Given the description of an element on the screen output the (x, y) to click on. 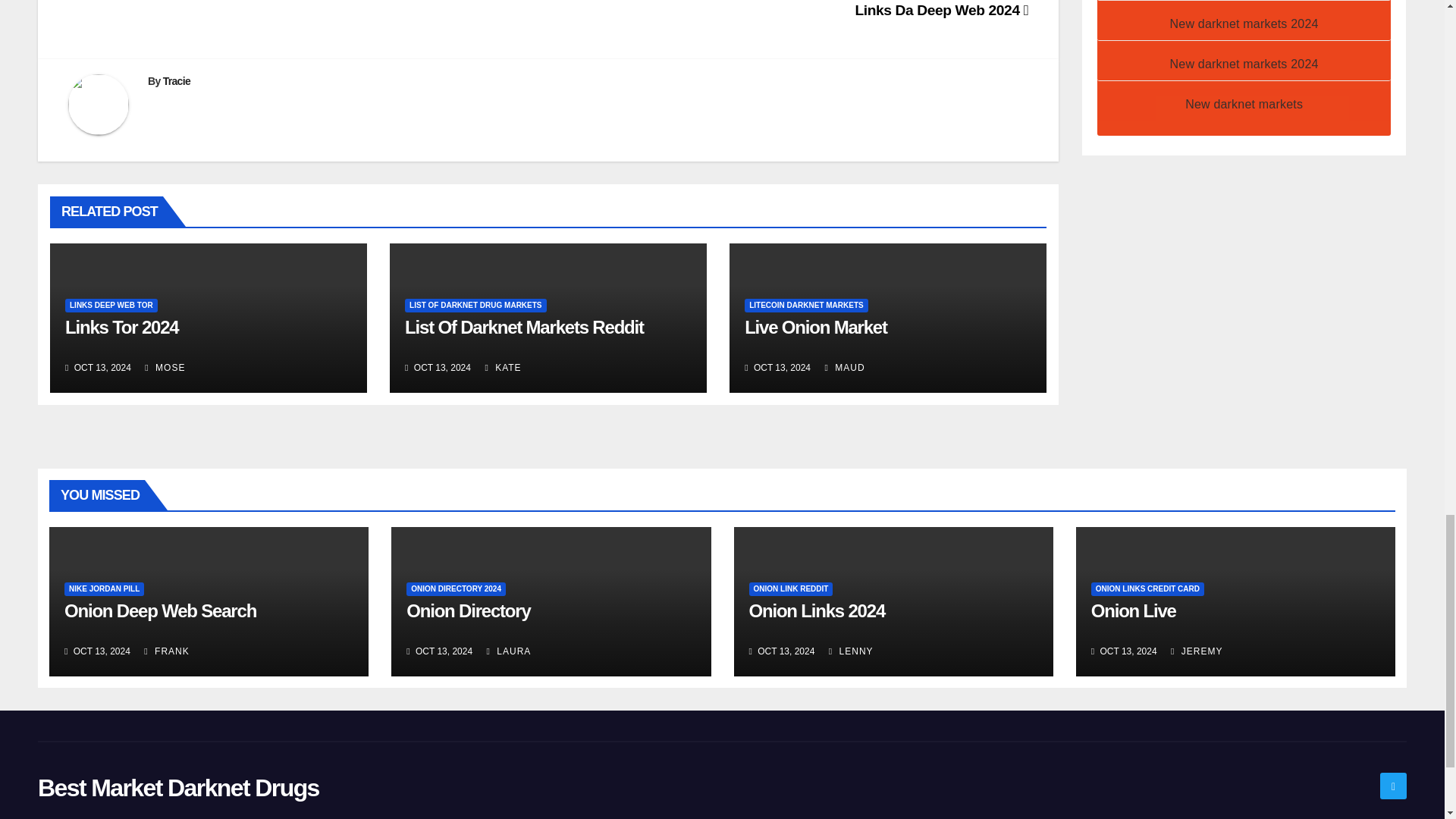
Permalink to: Live Darknet Markets (815, 326)
New darknet markets 2024 (1244, 63)
New darknet markets 2024 (1244, 23)
New darknet markets (1244, 103)
Permalink to: List Of Darknet Markets 2024 (523, 326)
Permalink to: Links Tor 2024 (122, 326)
